Given the description of an element on the screen output the (x, y) to click on. 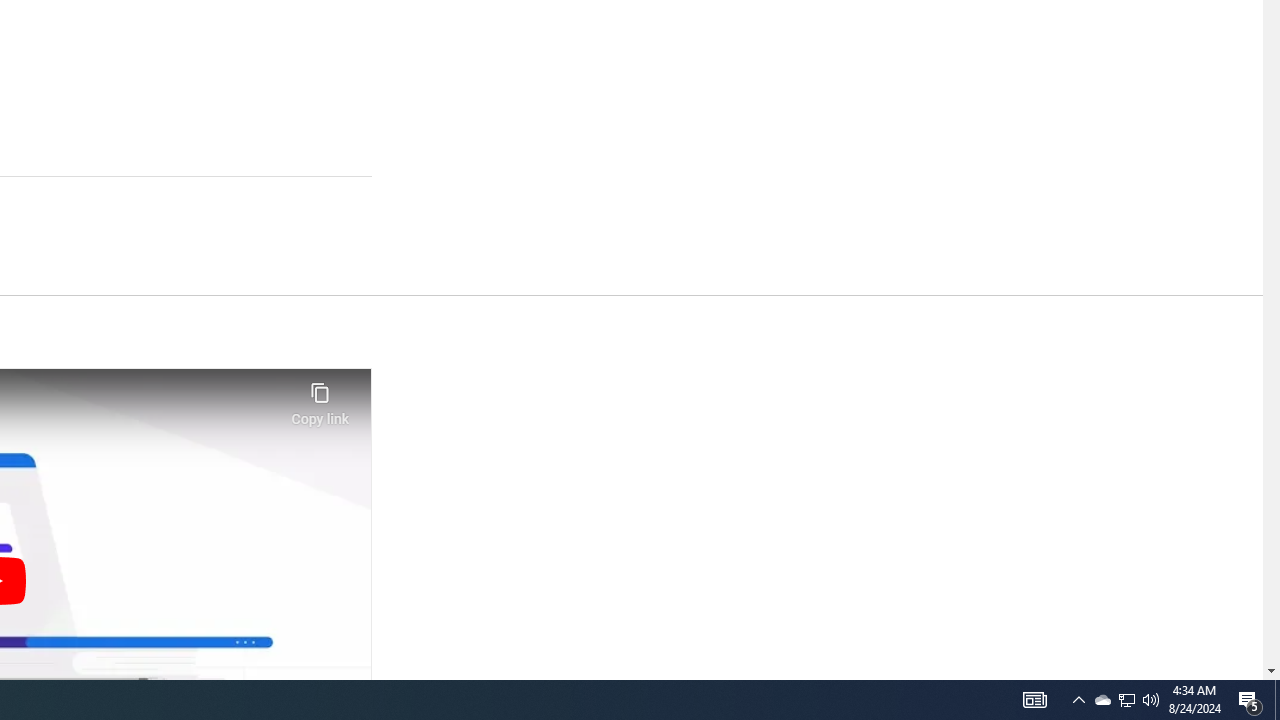
Copy link (319, 398)
